Given the description of an element on the screen output the (x, y) to click on. 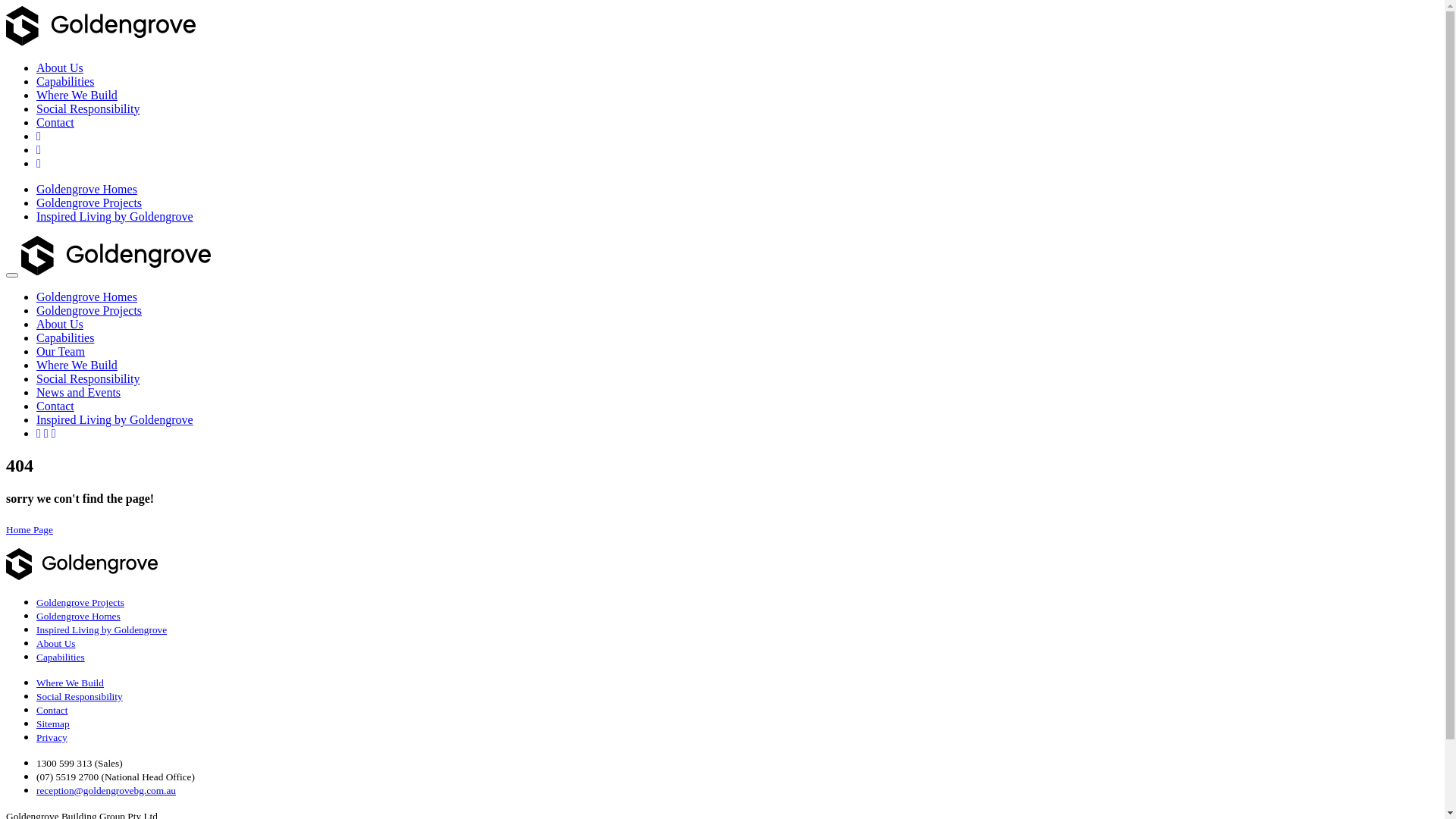
Contact Element type: text (55, 405)
Sitemap Element type: text (52, 722)
Inspired Living by Goldengrove Element type: text (101, 628)
Capabilities Element type: text (65, 81)
Contact Element type: text (55, 122)
Social Responsibility Element type: text (79, 695)
Contact Element type: text (51, 708)
Inspired Living by Goldengrove Element type: text (114, 216)
Capabilities Element type: text (65, 337)
About Us Element type: text (55, 642)
Home Page Element type: text (29, 528)
Goldengrove Homes Element type: text (78, 614)
Goldengrove Homes Element type: text (86, 296)
Goldengrove Projects Element type: text (80, 601)
Goldengrove Projects Element type: text (88, 310)
Social Responsibility Element type: text (87, 378)
Where We Build Element type: text (76, 364)
Goldengrove Projects Element type: text (88, 202)
Social Responsibility Element type: text (87, 108)
Capabilities Element type: text (60, 655)
Inspired Living by Goldengrove Element type: text (114, 419)
Goldengrove Homes Element type: text (86, 188)
News and Events Element type: text (78, 391)
Our Team Element type: text (60, 351)
Toggle navigation Element type: text (12, 275)
Where We Build Element type: text (69, 681)
reception@goldengrovebg.com.au Element type: text (105, 789)
About Us Element type: text (59, 323)
Privacy Element type: text (51, 736)
About Us Element type: text (59, 67)
Where We Build Element type: text (76, 94)
